Given the description of an element on the screen output the (x, y) to click on. 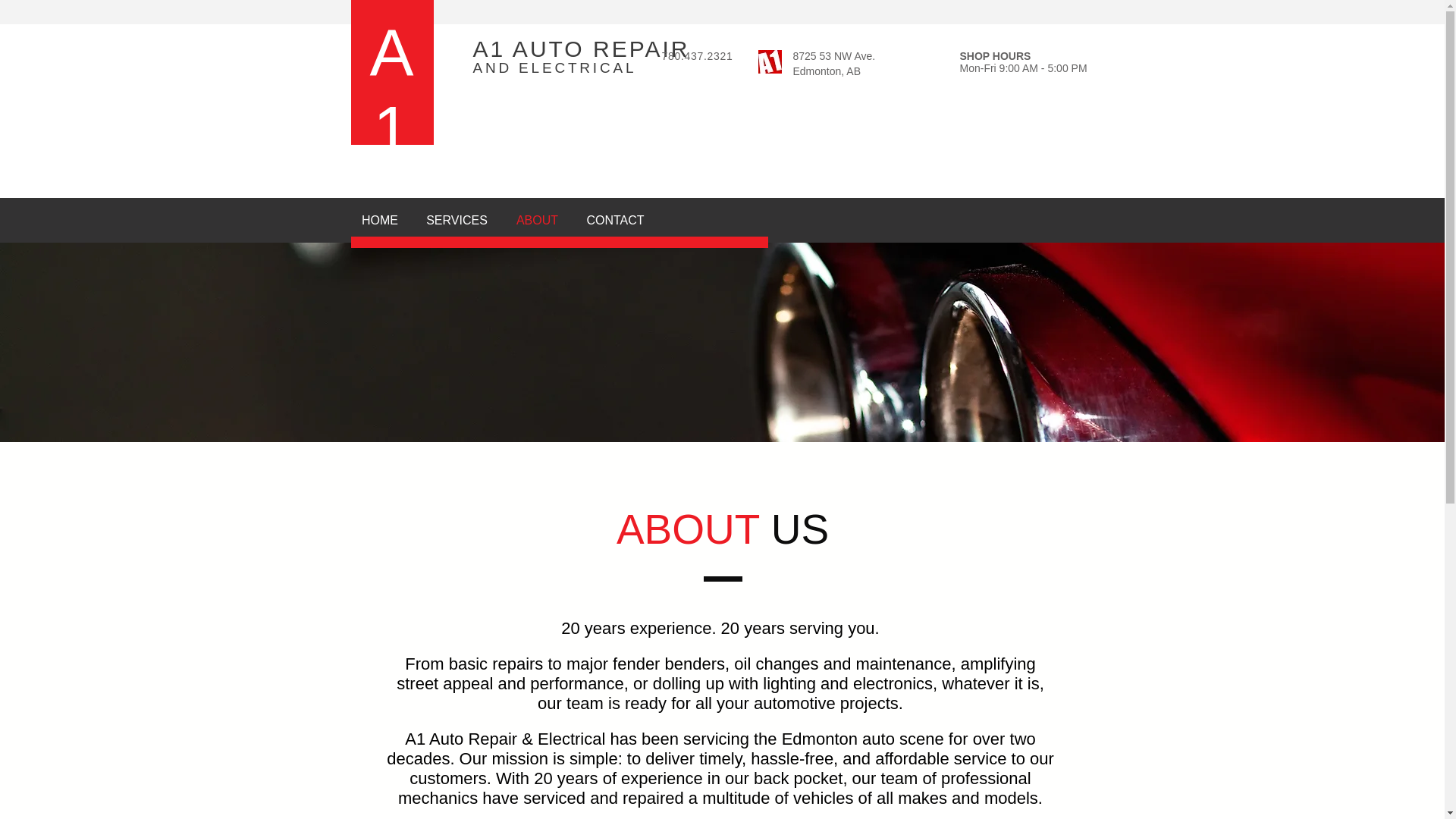
HOME (380, 219)
SERVICES (456, 219)
CONTACT (615, 219)
A1 logo.jpg (770, 61)
ABOUT (537, 219)
